Given the description of an element on the screen output the (x, y) to click on. 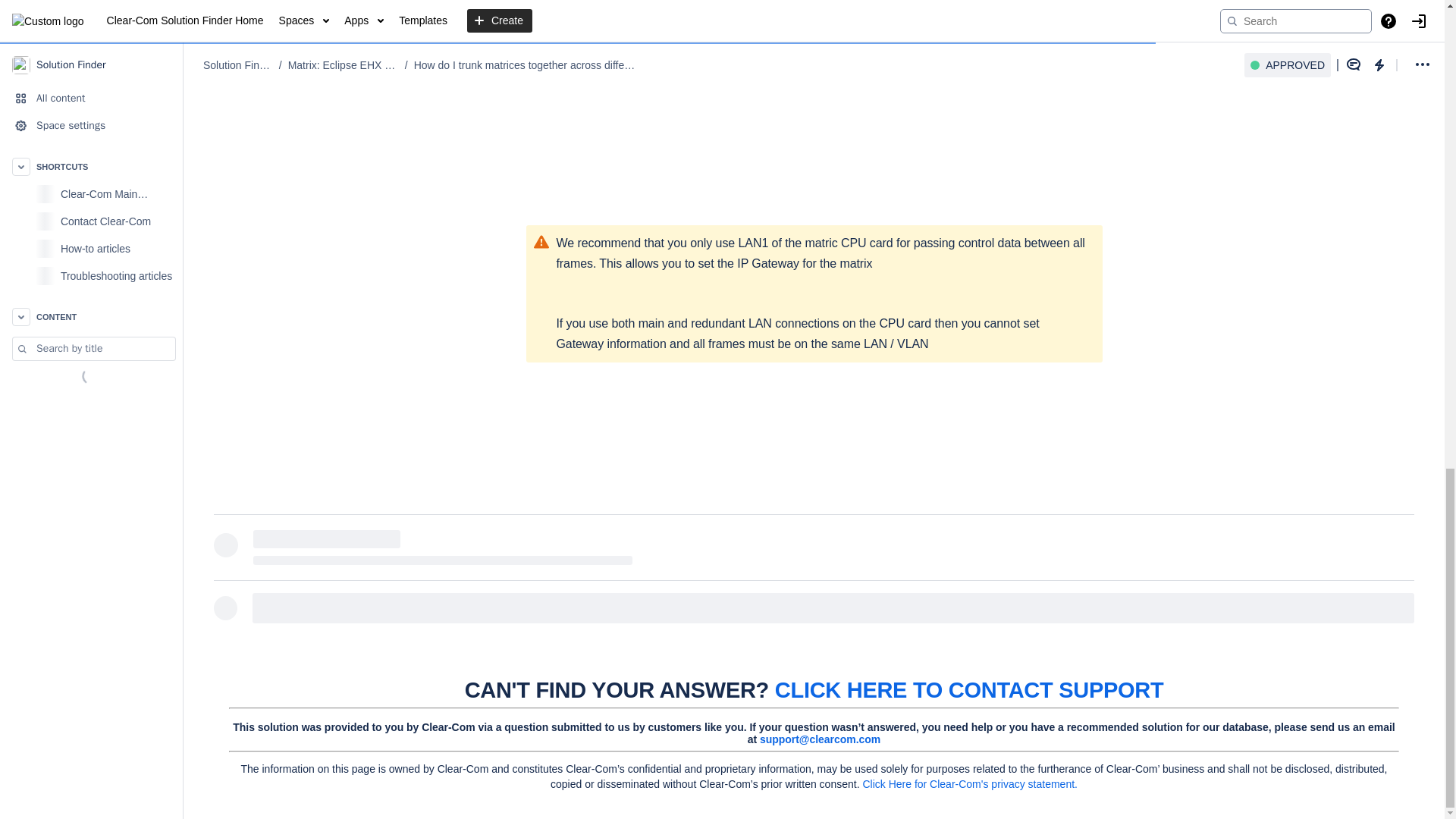
CLICK HERE TO CONTACT SUPPORT (968, 689)
Click Here for Clear-Com's privacy statement. (969, 784)
